Given the description of an element on the screen output the (x, y) to click on. 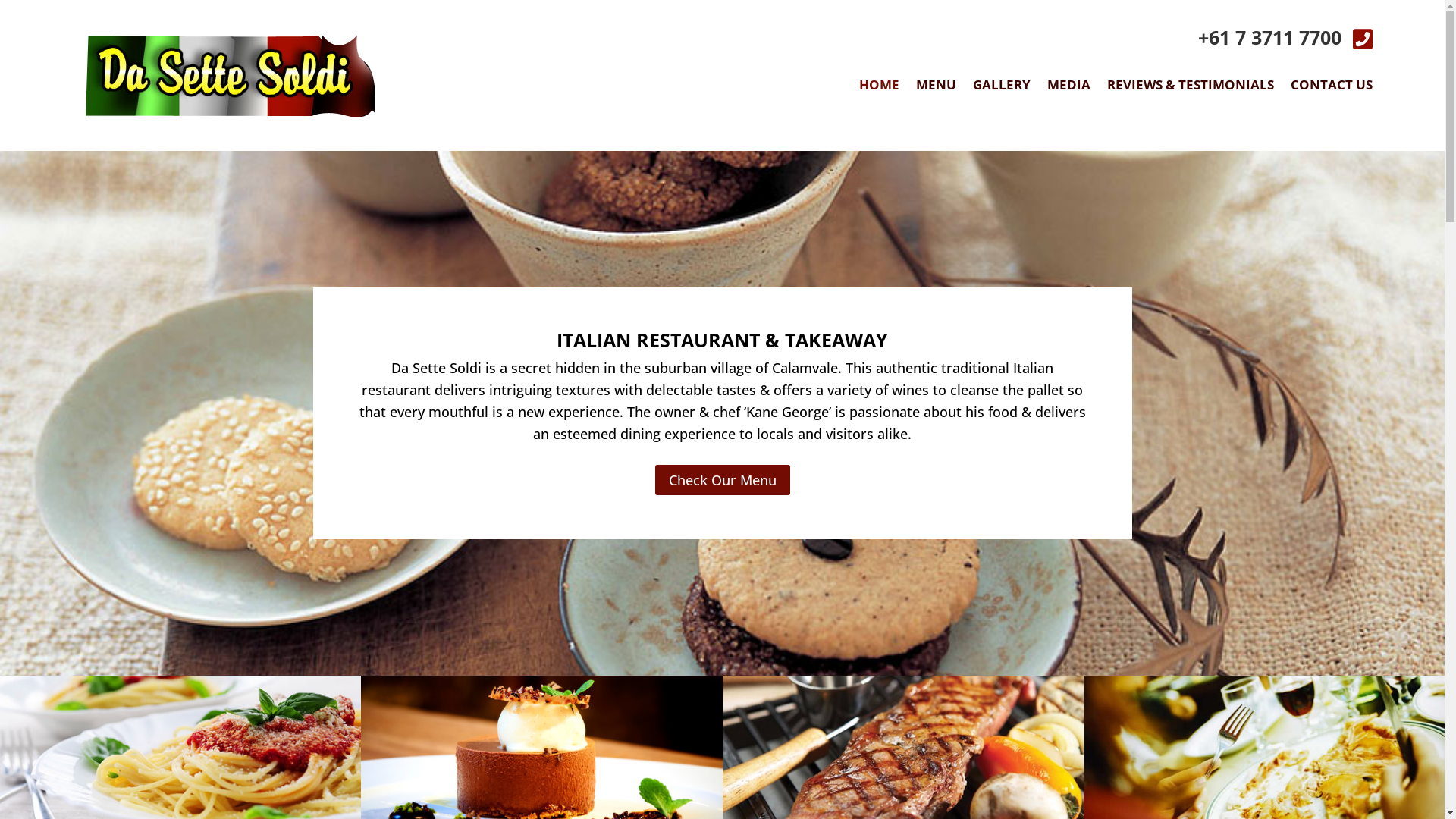
CONTACT US Element type: text (1331, 87)
logo Element type: hover (230, 75)
Check Our Menu Element type: text (722, 479)
MENU Element type: text (936, 87)
HOME Element type: text (879, 87)
REVIEWS & TESTIMONIALS Element type: text (1190, 87)
MEDIA Element type: text (1068, 87)
+61 7 3711 7700 Element type: text (1269, 37)
GALLERY Element type: text (1001, 87)
